Given the description of an element on the screen output the (x, y) to click on. 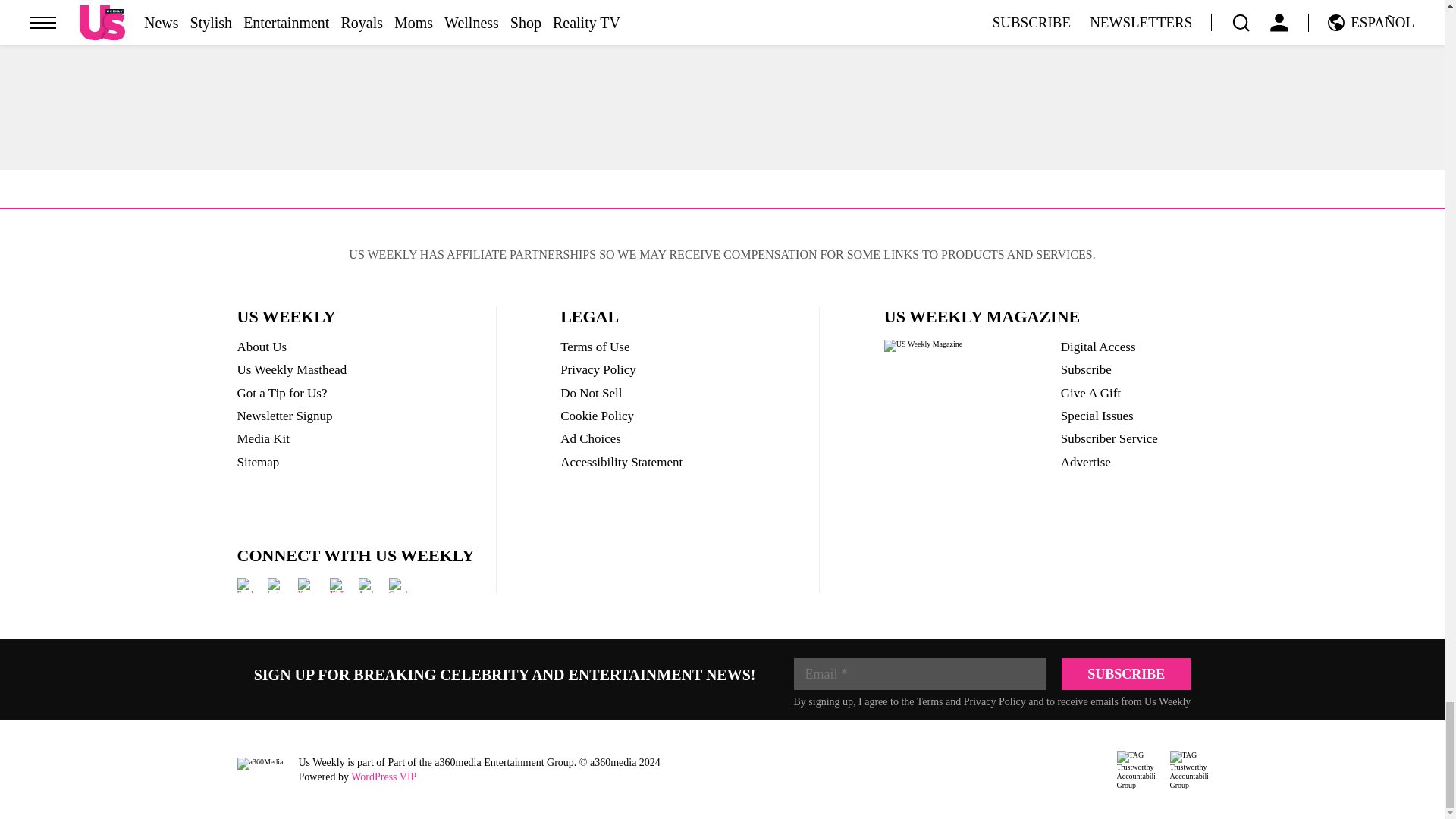
TAG Registered (1135, 769)
TAG Certified Against Fraud (1188, 769)
